Given the description of an element on the screen output the (x, y) to click on. 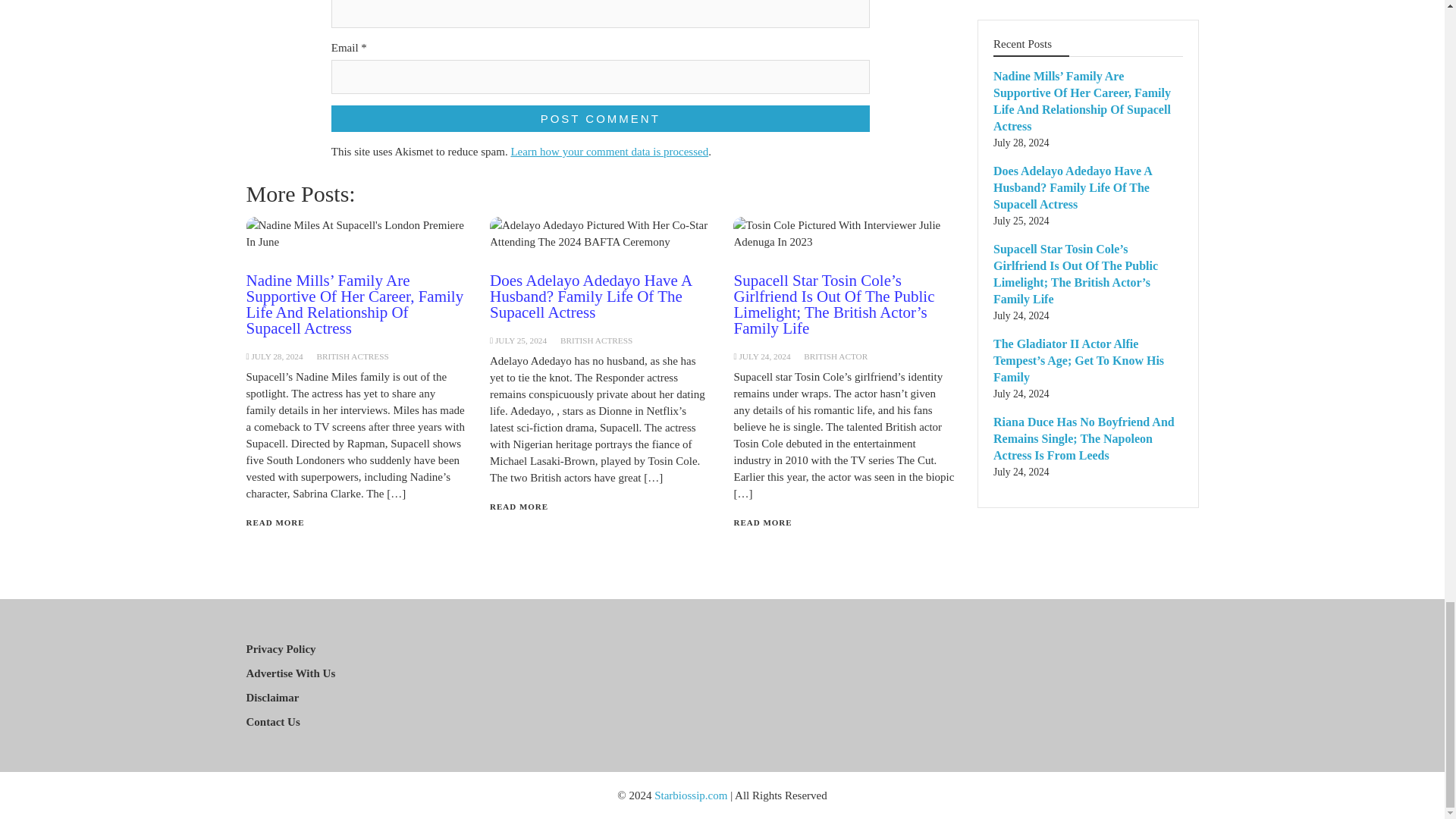
BRITISH ACTRESS (595, 339)
READ MORE (275, 522)
JULY 28, 2024 (276, 356)
Learn how your comment data is processed (609, 151)
BRITISH ACTOR (835, 356)
Post Comment (600, 118)
Post Comment (600, 118)
READ MORE (518, 506)
BRITISH ACTRESS (351, 356)
JULY 25, 2024 (521, 339)
JULY 24, 2024 (764, 356)
READ MORE (762, 522)
